Given the description of an element on the screen output the (x, y) to click on. 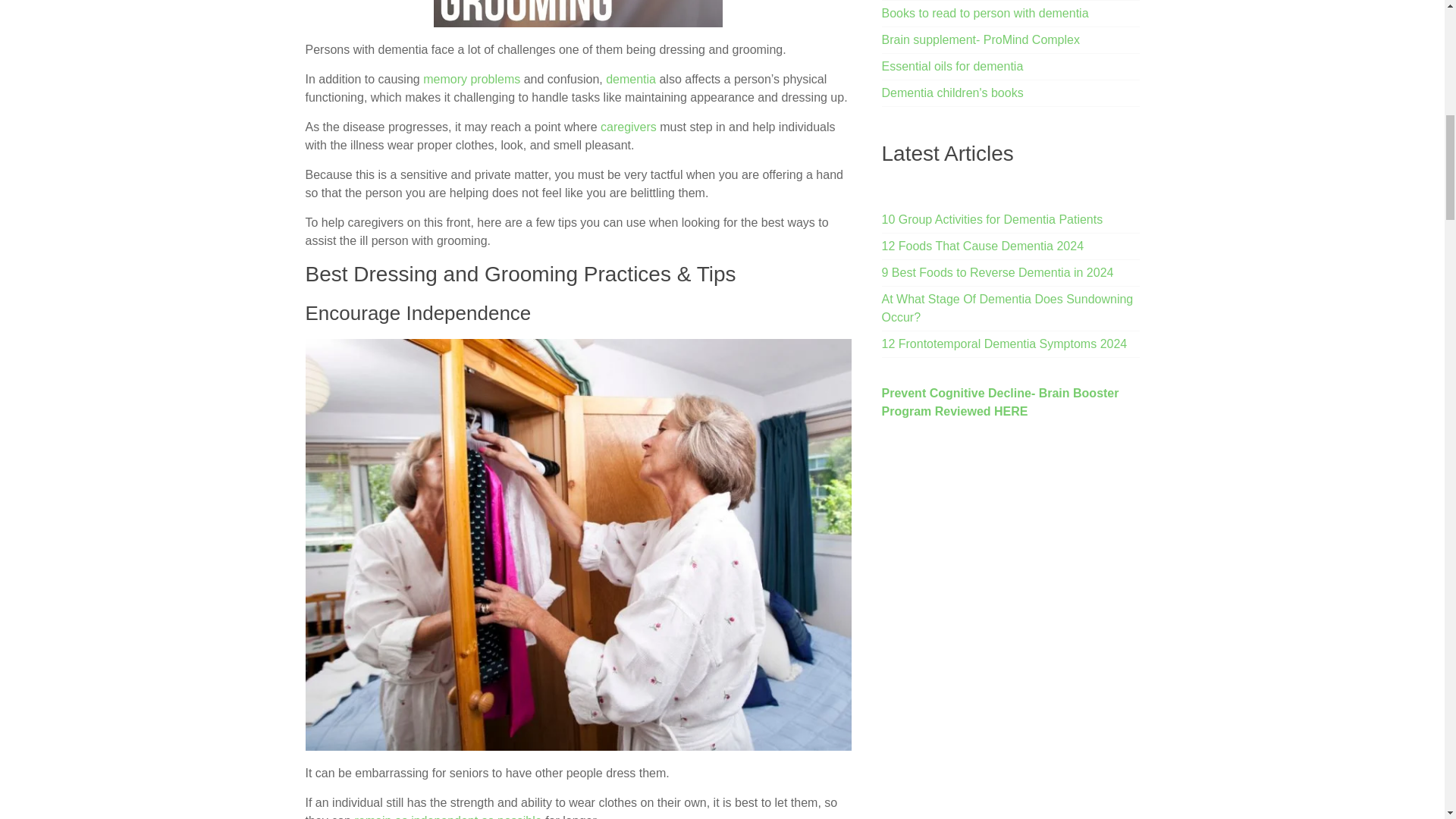
remain as independent as possible (447, 816)
caregivers (627, 126)
dementia (630, 78)
memory problems (471, 78)
